Given the description of an element on the screen output the (x, y) to click on. 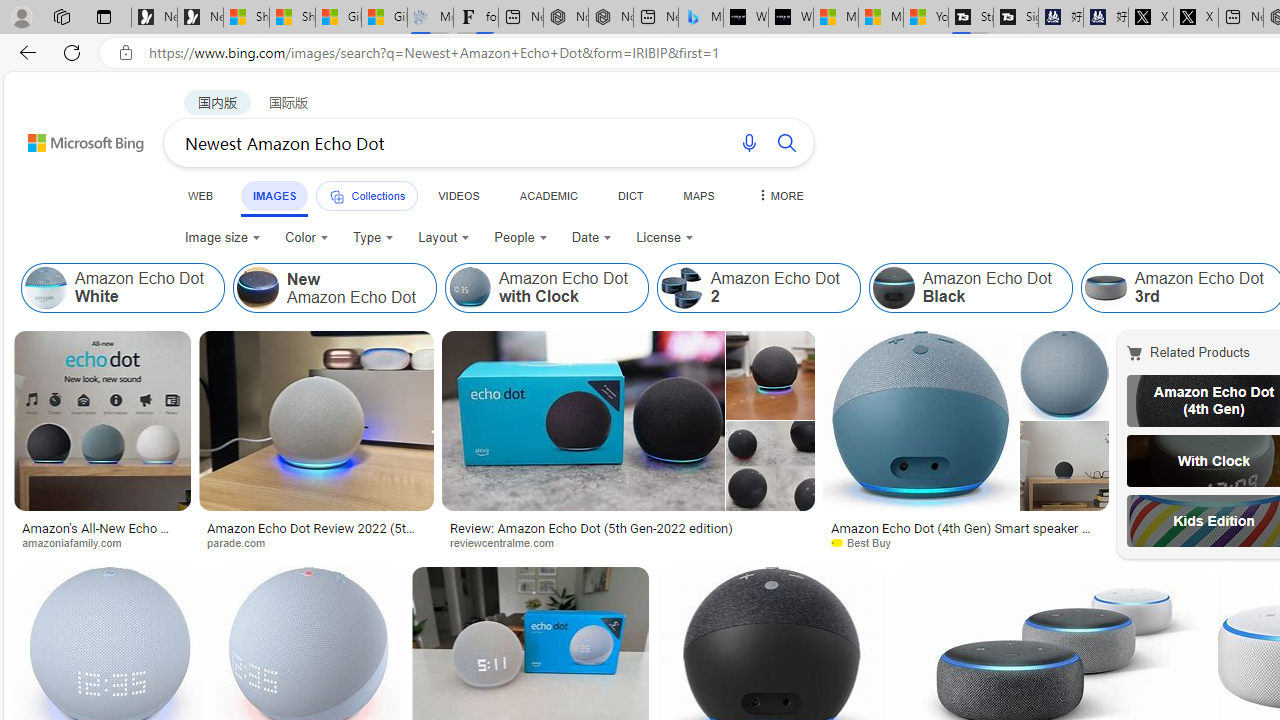
Review: Amazon Echo Dot (5th Gen-2022 edition) (628, 528)
Image size (222, 237)
Amazon Echo Dot 2 (681, 287)
Best Buy (868, 541)
Back to Bing search (73, 138)
MAPS (698, 195)
VIDEOS (458, 195)
Image result for Newest Amazon Echo Dot (1064, 466)
